Given the description of an element on the screen output the (x, y) to click on. 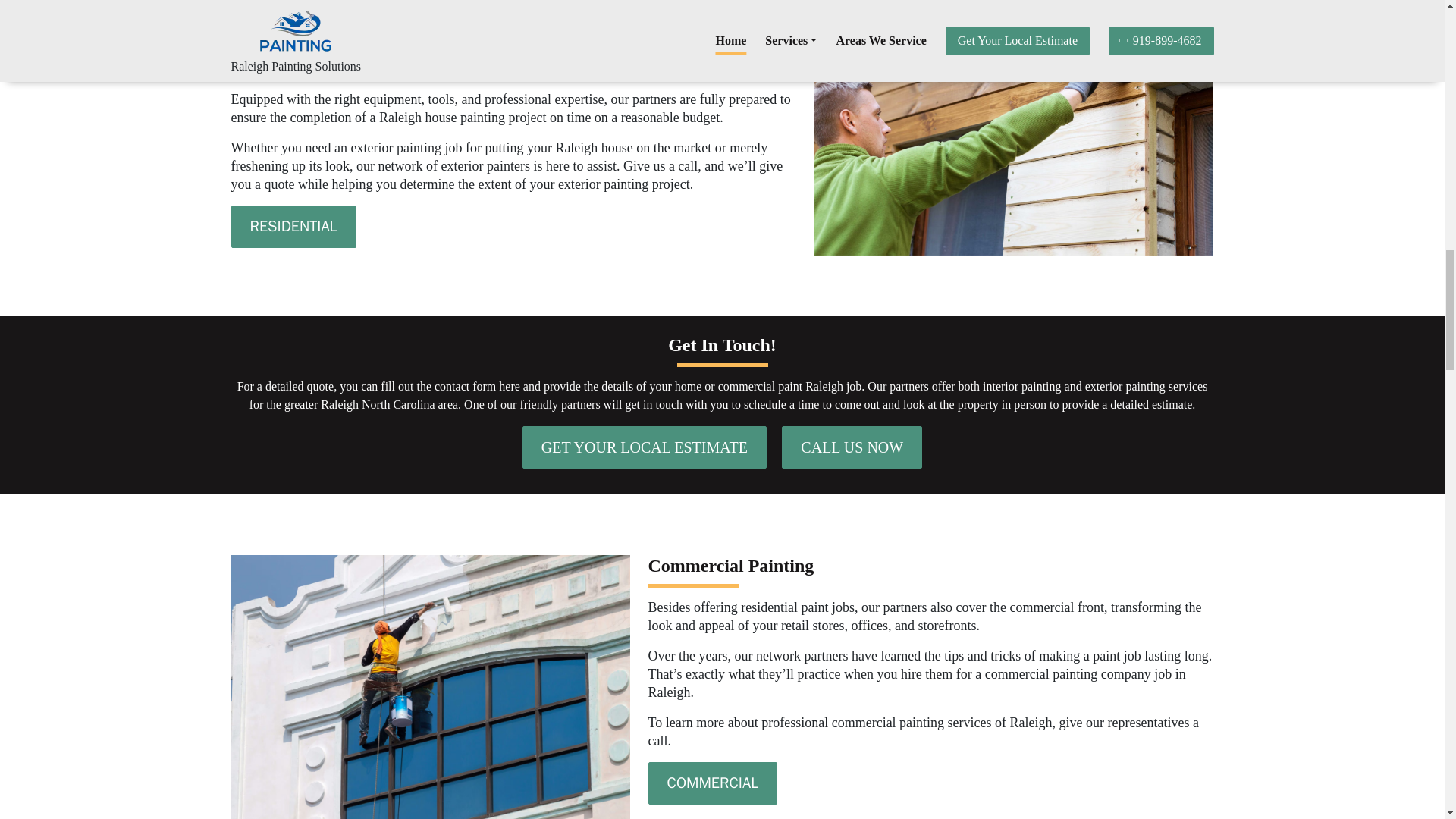
GET YOUR LOCAL ESTIMATE (644, 446)
COMMERCIAL (712, 783)
RESIDENTIAL (292, 226)
CALL US NOW (851, 446)
